Given the description of an element on the screen output the (x, y) to click on. 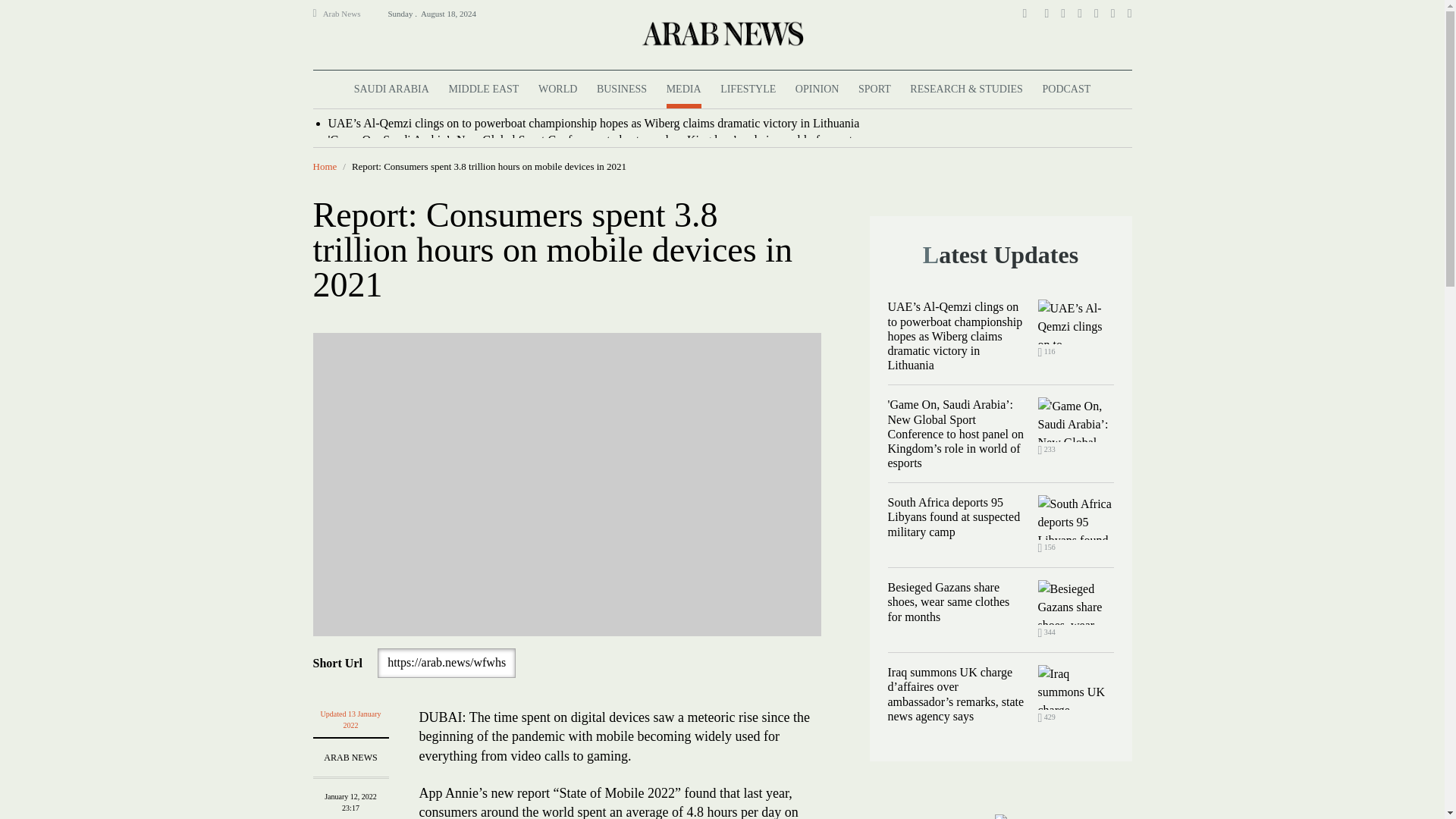
Arab News (348, 13)
Besieged Gazans share shoes, wear same clothes for months (1074, 601)
Arabnews (721, 33)
